Given the description of an element on the screen output the (x, y) to click on. 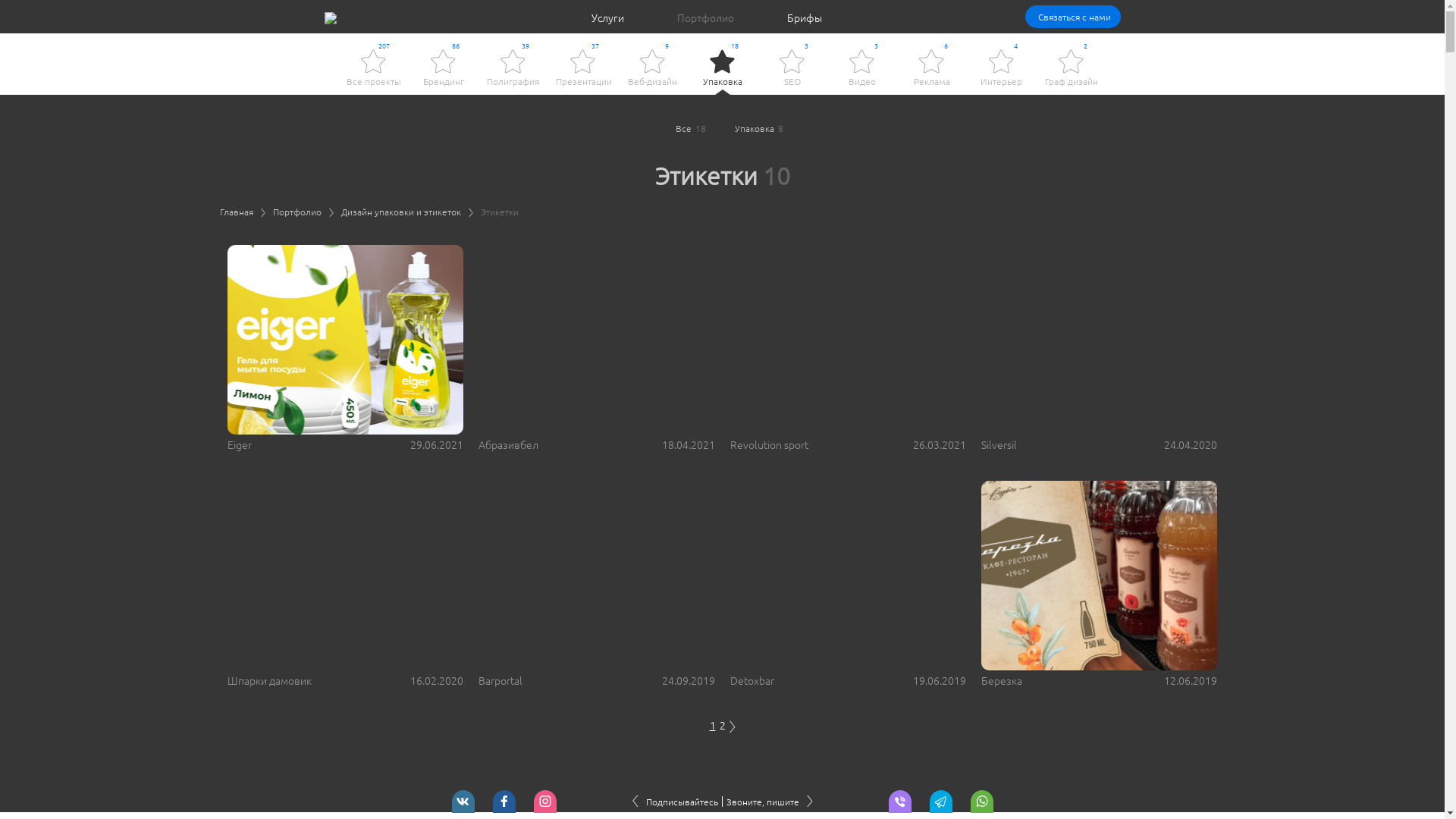
1 Element type: text (712, 724)
Eiger
29.06.2021 Element type: text (344, 347)
Barportal
24.09.2019 Element type: text (595, 583)
Revolution sport
26.03.2021 Element type: text (846, 347)
Detoxbar
19.06.2019 Element type: text (846, 583)
2 Element type: text (721, 724)
3
SEO Element type: text (791, 68)
Silversil
24.04.2020 Element type: text (1098, 347)
